Given the description of an element on the screen output the (x, y) to click on. 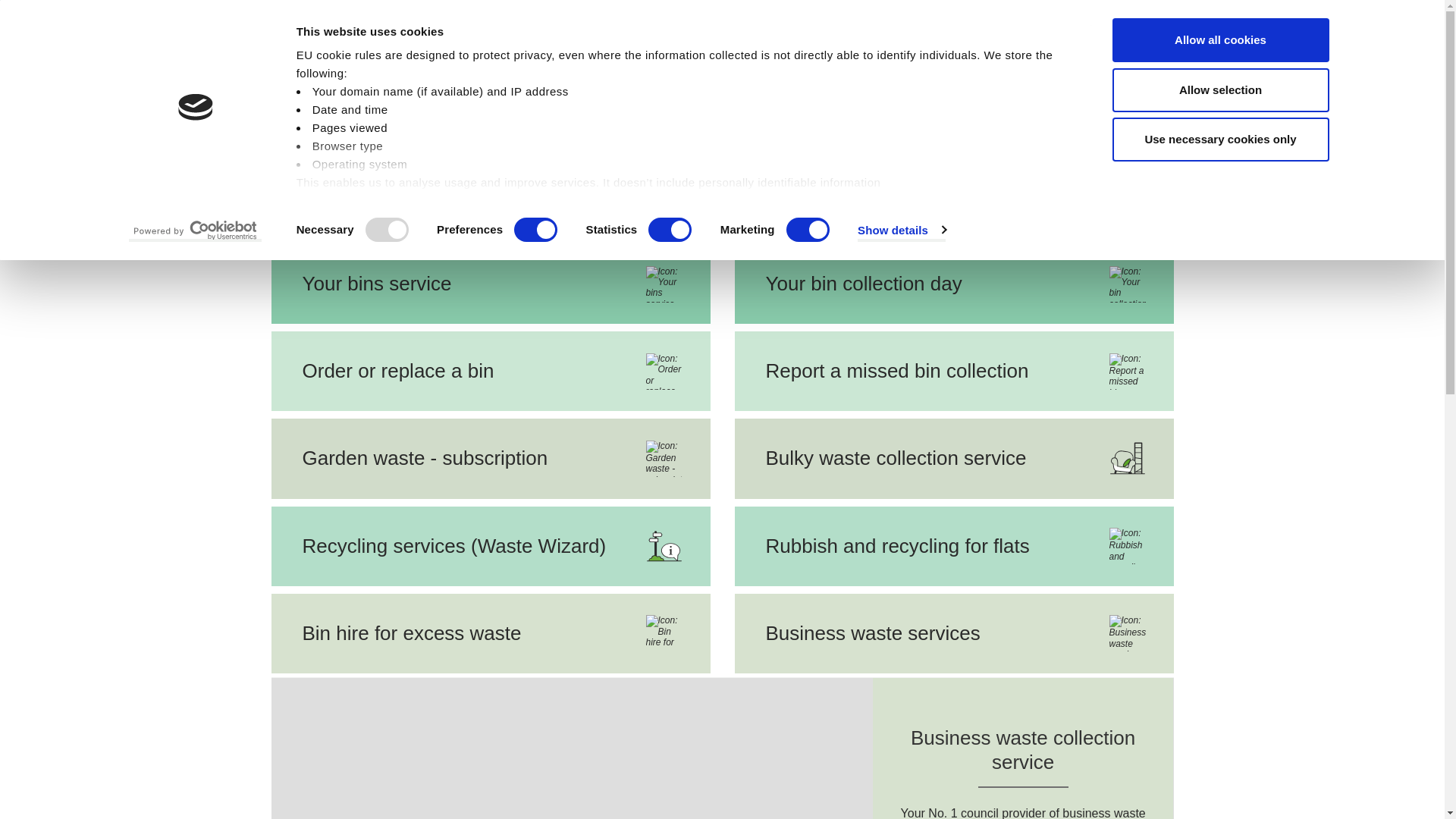
Show details (900, 229)
